Given the description of an element on the screen output the (x, y) to click on. 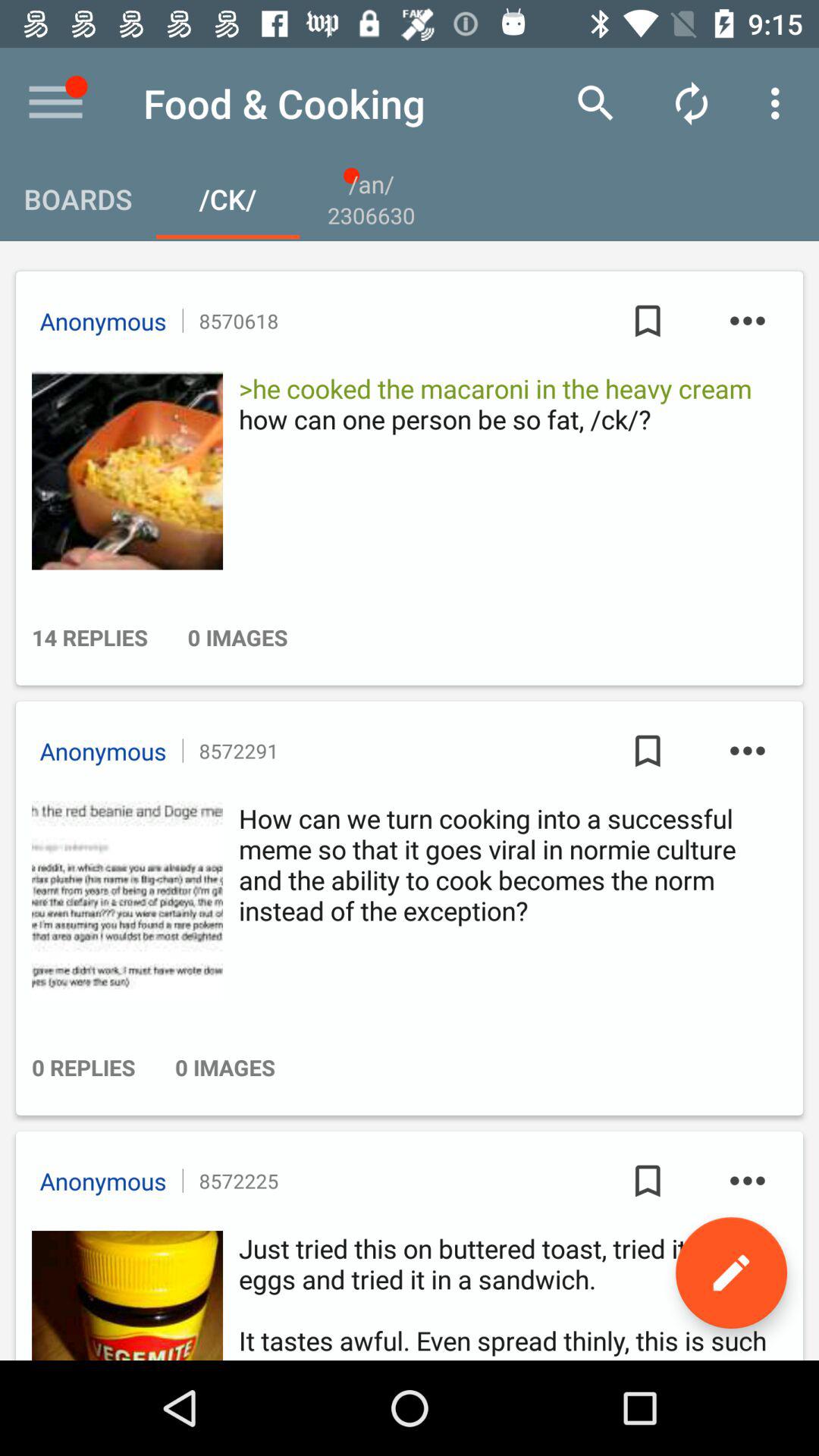
food image (122, 469)
